Given the description of an element on the screen output the (x, y) to click on. 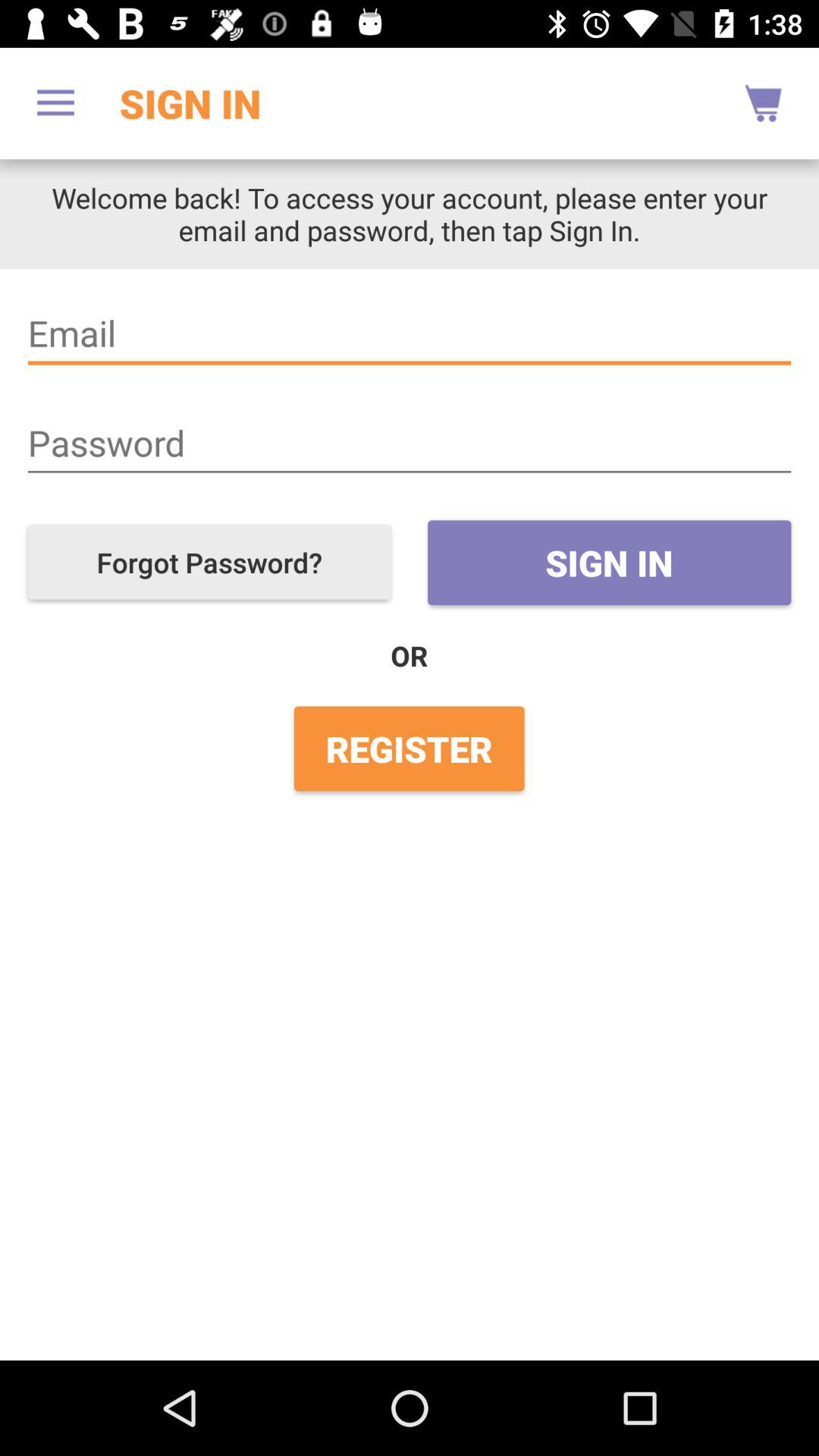
select item on the left (209, 562)
